Given the description of an element on the screen output the (x, y) to click on. 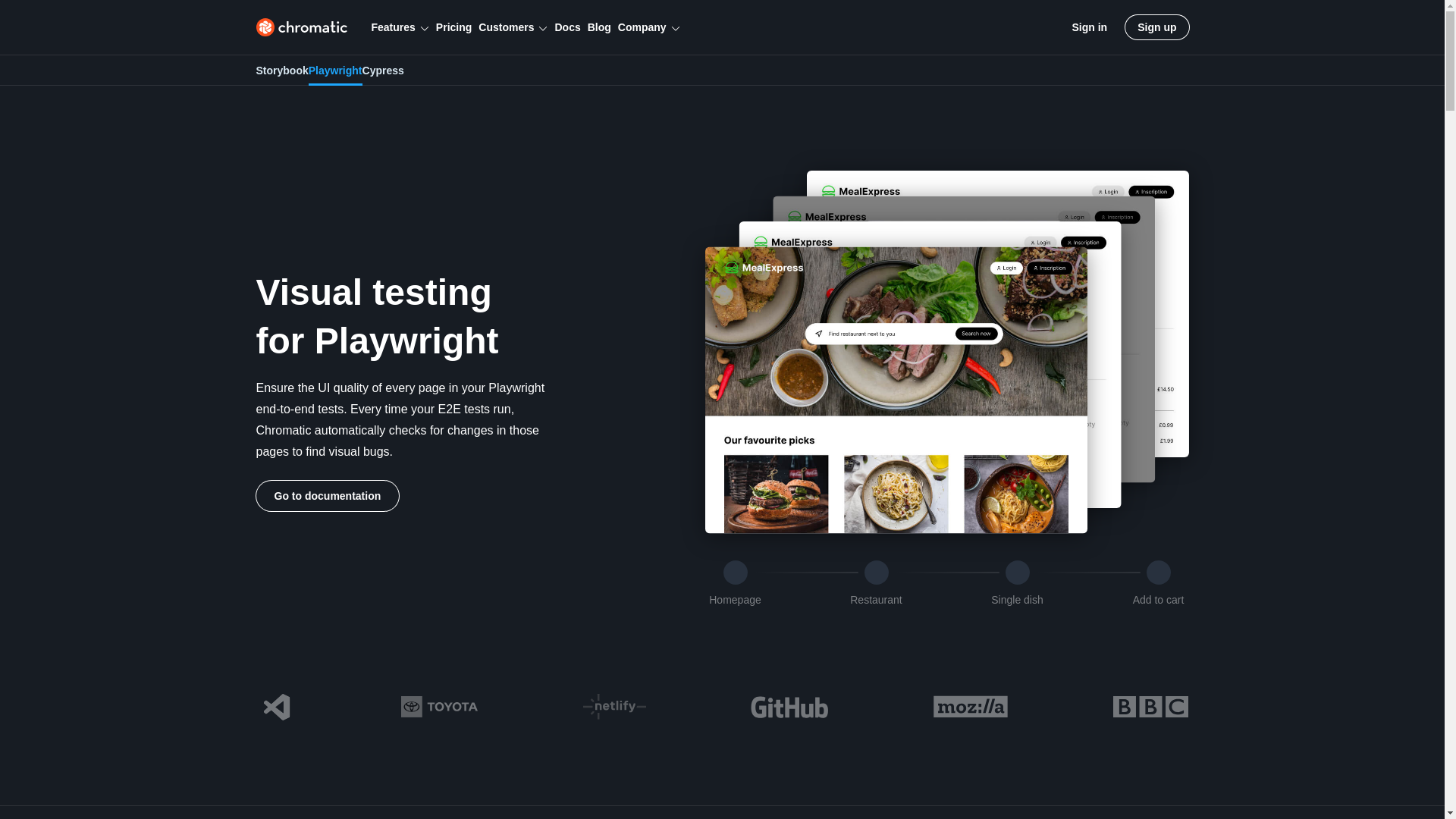
Blog (599, 27)
Sign in (1089, 27)
Company (648, 27)
Features (400, 27)
Playwright (335, 70)
Customers (513, 27)
Go to documentation (327, 495)
Docs (566, 27)
Storybook (282, 70)
Sign up (1156, 27)
Cypress (383, 70)
Pricing (453, 27)
